Given the description of an element on the screen output the (x, y) to click on. 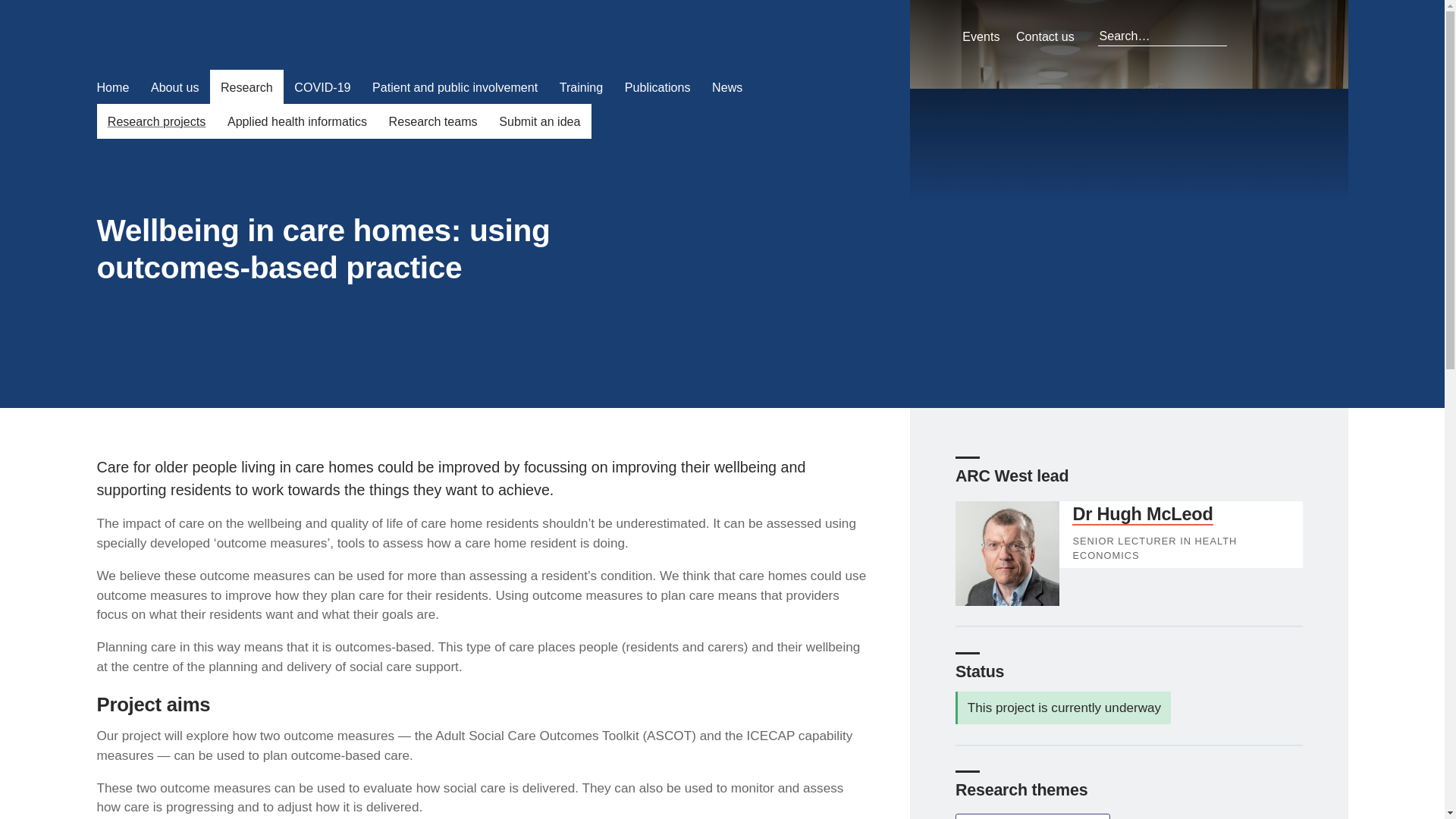
Training (580, 86)
YouTube (1325, 37)
News (727, 86)
Research projects (156, 121)
Contact us (1045, 36)
ARC: Applied Research Collaboration West (233, 37)
Facebook (1246, 37)
Submit an idea (539, 121)
LinkedIn (1272, 37)
Research teams (432, 121)
Publications (657, 86)
Applied health informatics (297, 121)
Research (246, 86)
Events (980, 36)
Home (112, 86)
